Given the description of an element on the screen output the (x, y) to click on. 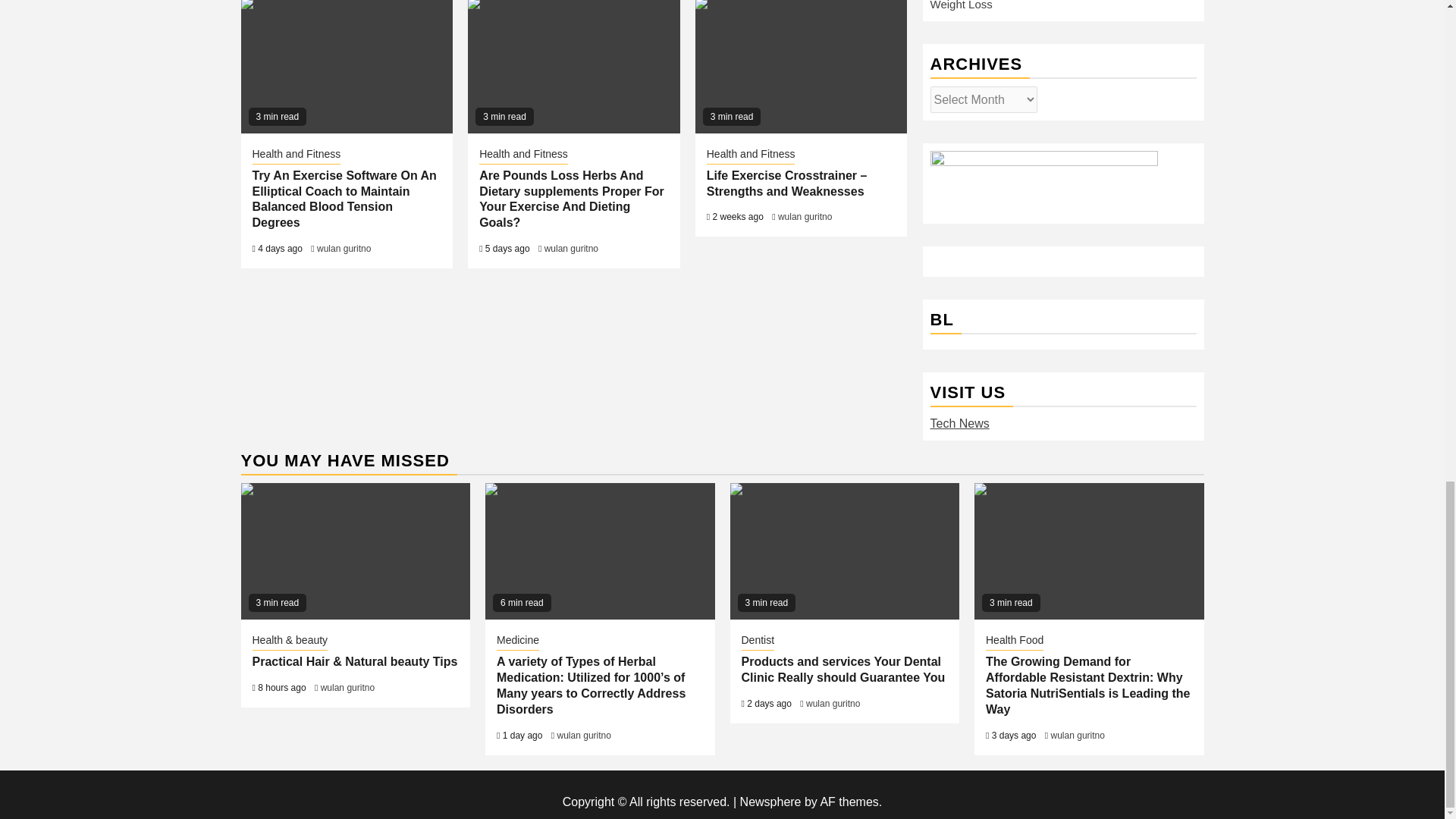
Health and Fitness (523, 155)
wulan guritno (804, 216)
Health and Fitness (750, 155)
wulan guritno (344, 248)
wulan guritno (571, 248)
